Given the description of an element on the screen output the (x, y) to click on. 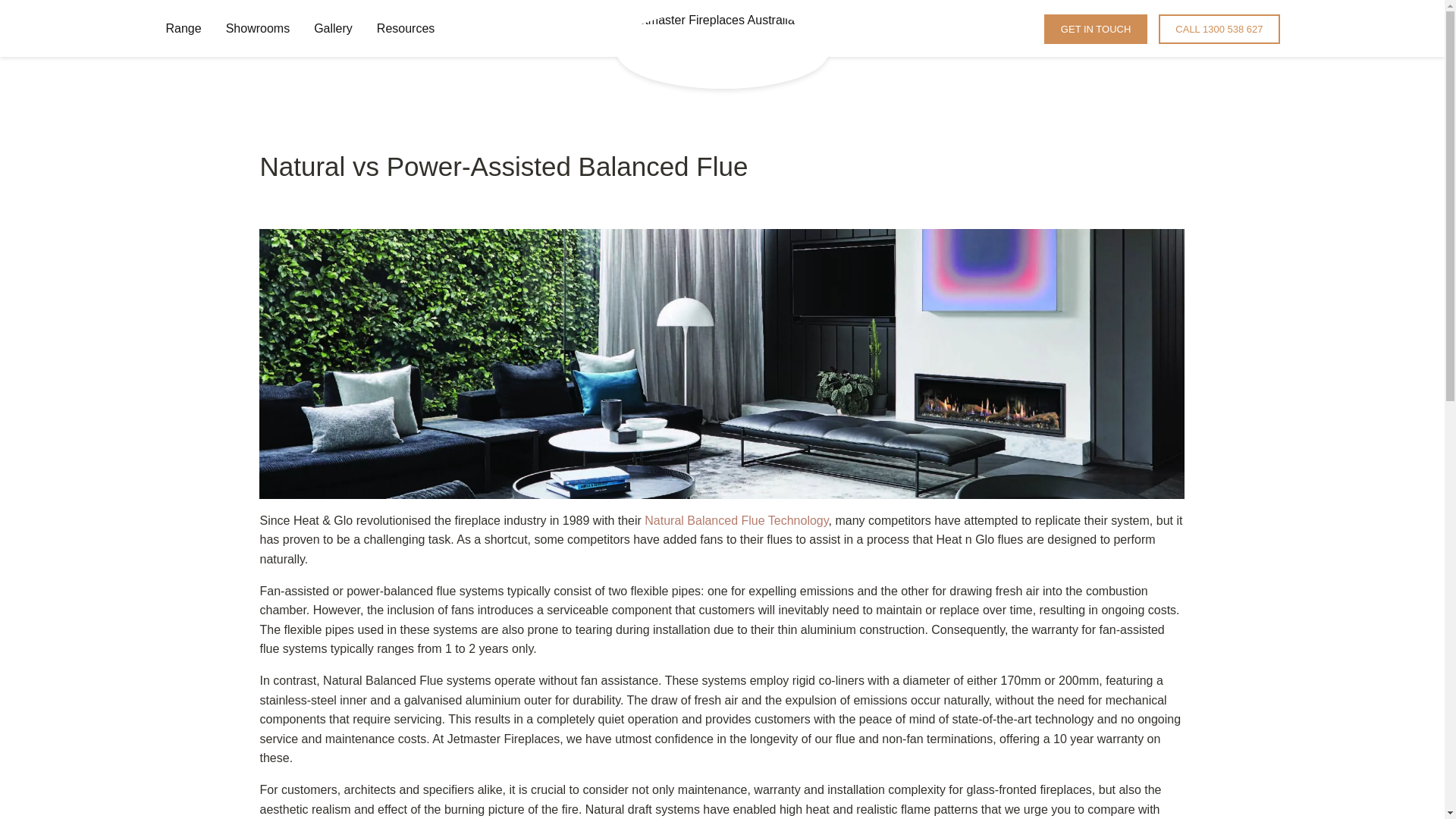
Range (182, 28)
Resources (405, 28)
Gallery (333, 28)
CALL 1300 538 627 (1218, 29)
GET IN TOUCH (1095, 29)
Showrooms (257, 28)
